Given the description of an element on the screen output the (x, y) to click on. 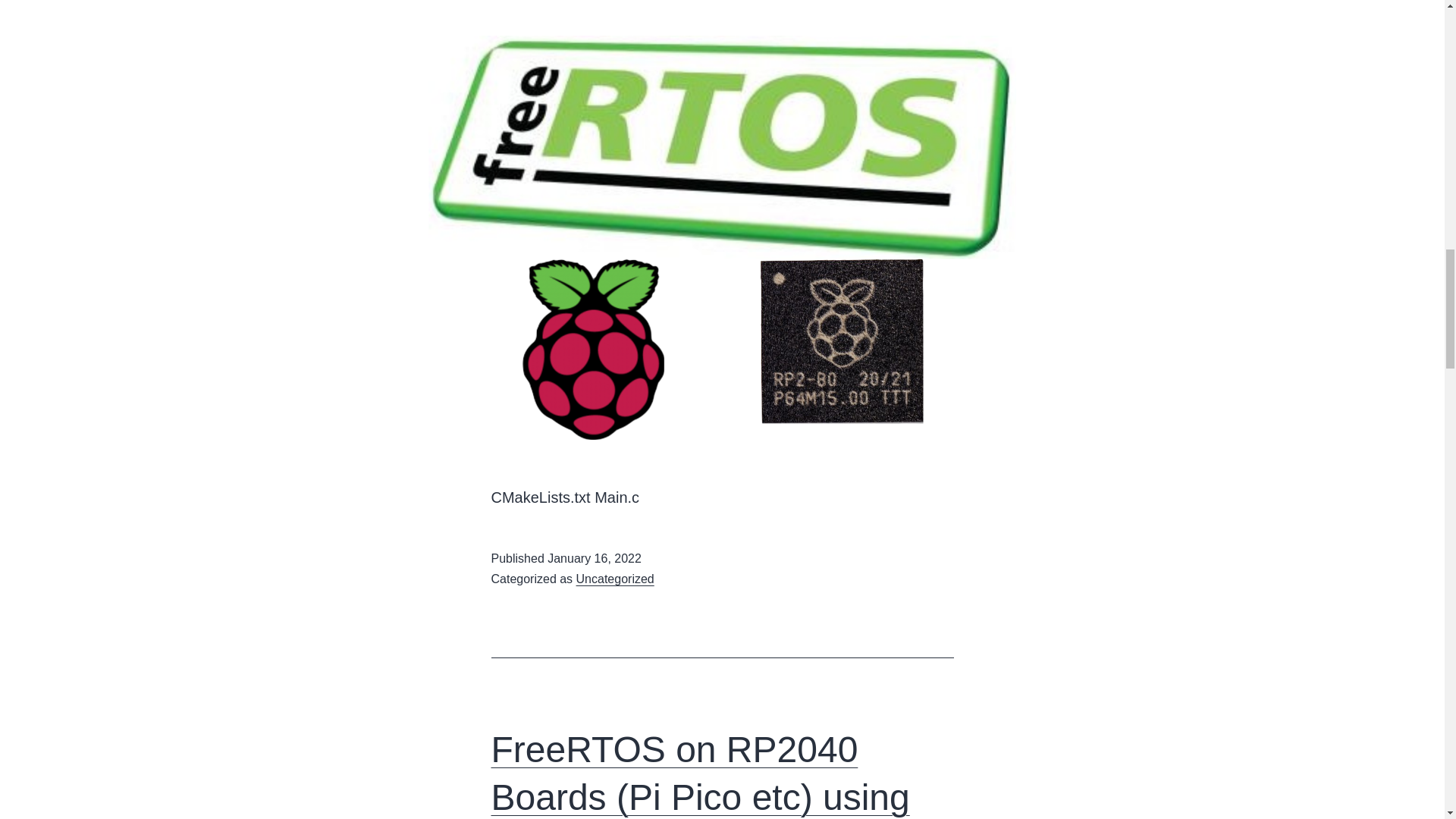
Uncategorized (614, 578)
